Given the description of an element on the screen output the (x, y) to click on. 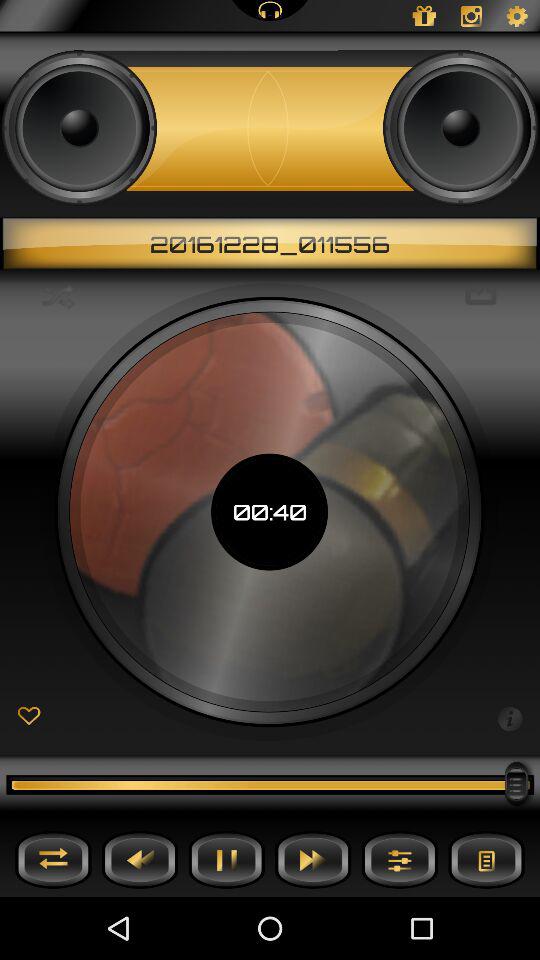
pause button (226, 859)
